Given the description of an element on the screen output the (x, y) to click on. 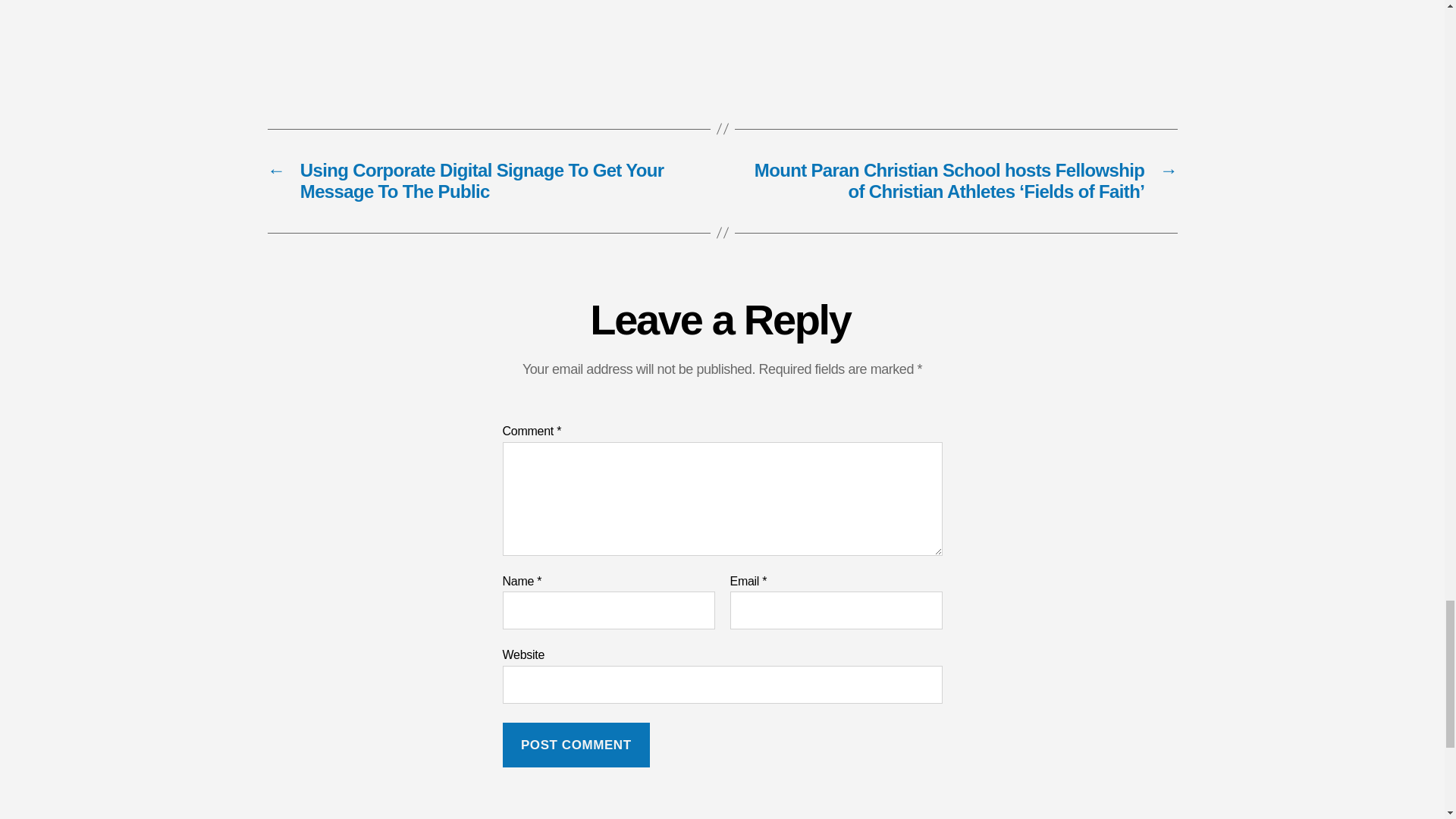
Post Comment (575, 744)
